Given the description of an element on the screen output the (x, y) to click on. 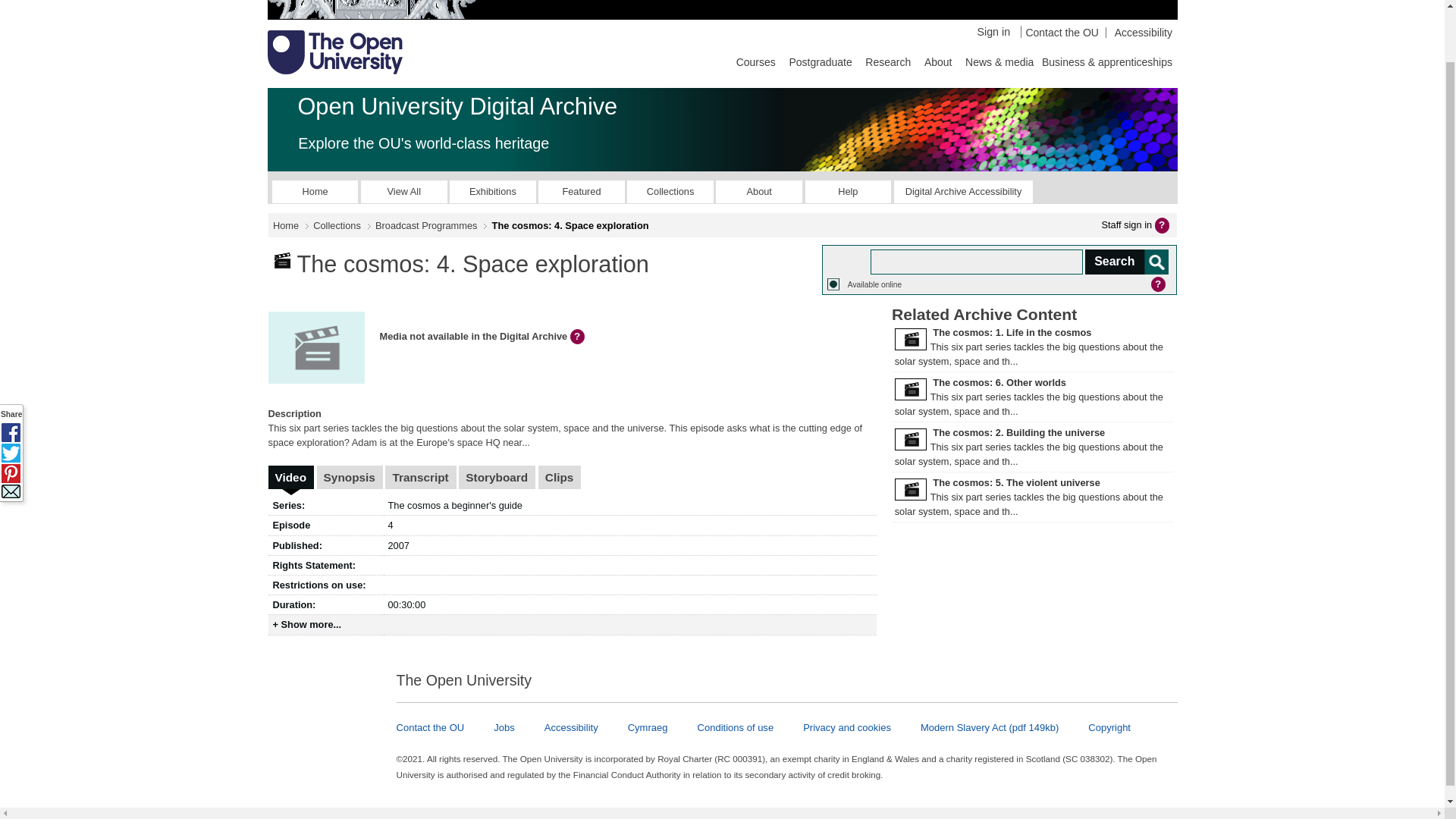
share this via email (10, 433)
Exhibitions (492, 191)
share this via Pinterest (10, 415)
search help (1160, 281)
Accessibility (1138, 32)
contextual help (579, 336)
About OUDL (759, 191)
Collections (337, 225)
About (759, 191)
Digital Archive Accessibility (963, 191)
View 1 video record (290, 477)
share this via Twitter (10, 394)
share this via Facebook (10, 374)
